Given the description of an element on the screen output the (x, y) to click on. 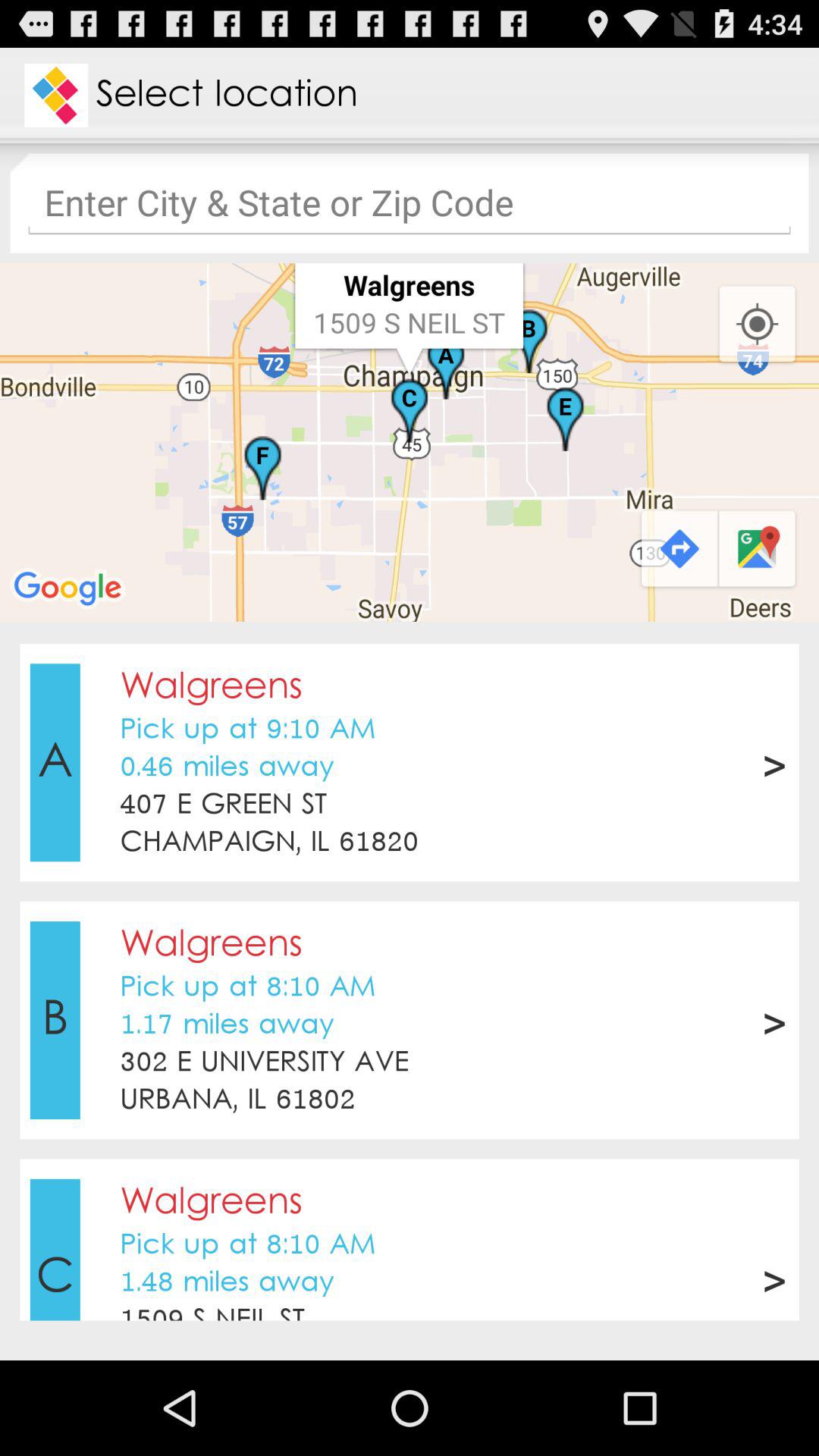
flip until the > app (773, 1020)
